Given the description of an element on the screen output the (x, y) to click on. 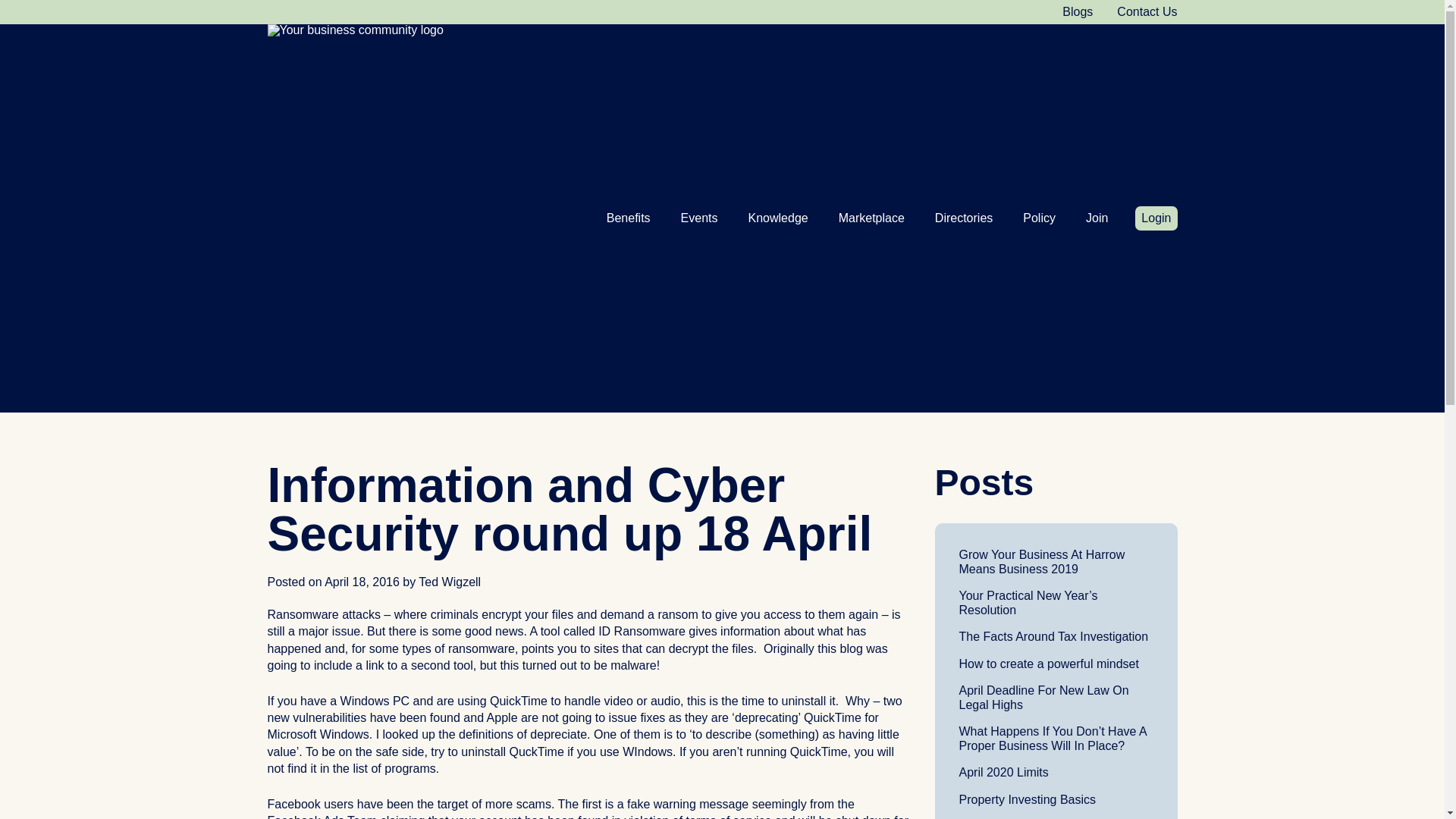
Login (1155, 218)
Marketplace (871, 217)
Policy (1039, 217)
Directories (963, 217)
Events (699, 217)
Benefits (628, 217)
Ted Wigzell (449, 581)
ID Ransomware (641, 631)
April 18, 2016 (361, 581)
Contact Us (1146, 11)
Knowledge (777, 217)
Blogs (1077, 11)
